Given the description of an element on the screen output the (x, y) to click on. 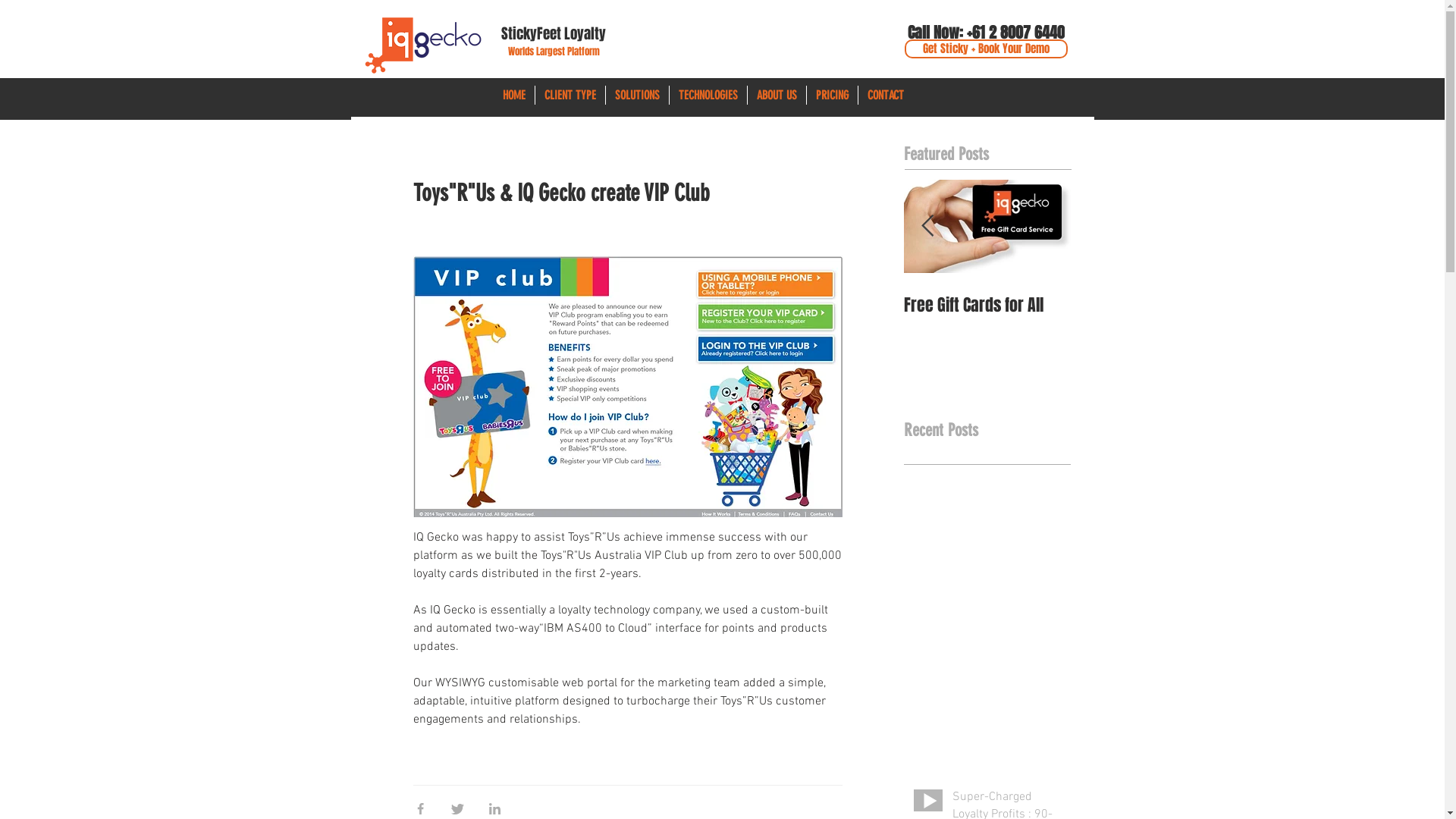
ABOUT US Element type: text (776, 94)
TECHNOLOGIES Element type: text (707, 94)
CONTACT Element type: text (885, 94)
Have Customer Loyalty Everywhere Element type: text (820, 316)
CLIENT TYPE Element type: text (570, 94)
StickyFeet Loyalty Element type: text (553, 34)
SOLUTIONS Element type: text (636, 94)
Simon Johnson - Purveying Loyalty + Gift Card platform Element type: text (653, 328)
Call Now: +61 2 8007 6440 Element type: text (985, 31)
PRICING Element type: text (831, 94)
Get Sticky + Book Your Demo Element type: text (984, 48)
HOME Element type: text (512, 94)
Free Gift Cards for All Element type: text (986, 304)
Worlds Largest Platform Element type: text (553, 51)
iqgecko_edited.png Element type: hover (421, 45)
The point of points is success! Element type: text (486, 316)
